Given the description of an element on the screen output the (x, y) to click on. 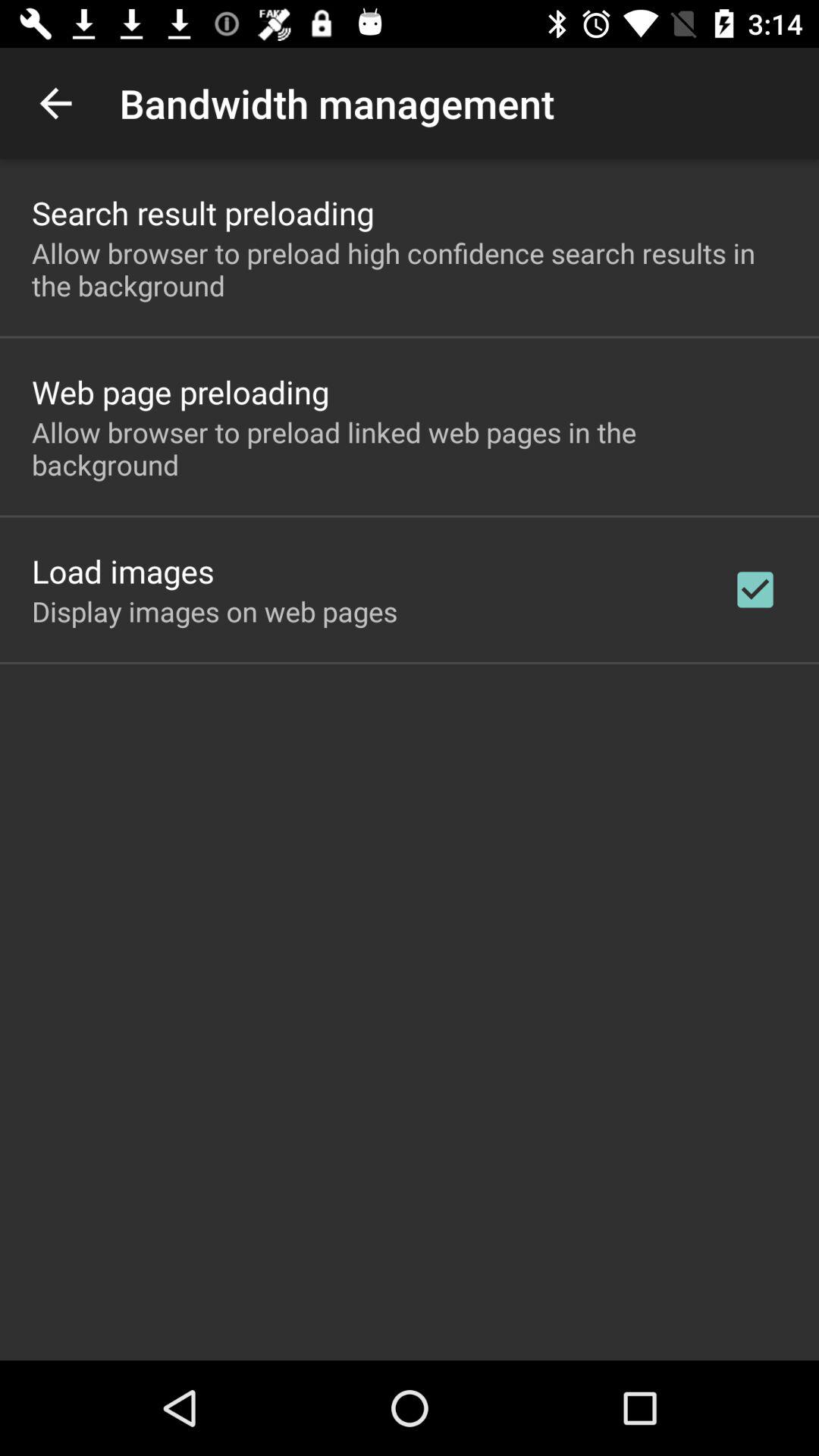
swipe until the web page preloading icon (180, 391)
